Given the description of an element on the screen output the (x, y) to click on. 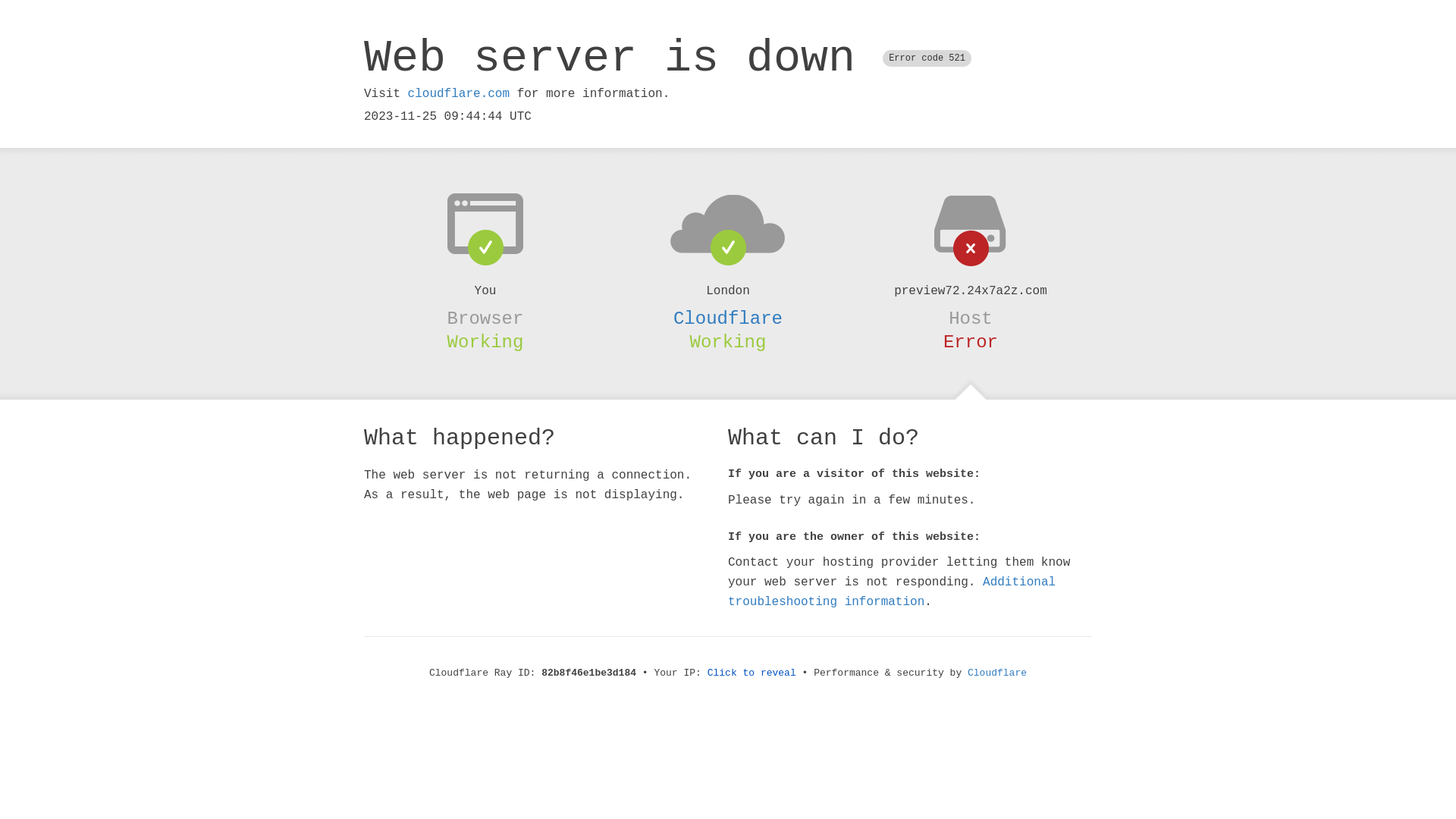
Cloudflare Element type: text (727, 318)
Additional troubleshooting information Element type: text (891, 591)
Click to reveal Element type: text (751, 672)
cloudflare.com Element type: text (458, 93)
Cloudflare Element type: text (996, 672)
